Given the description of an element on the screen output the (x, y) to click on. 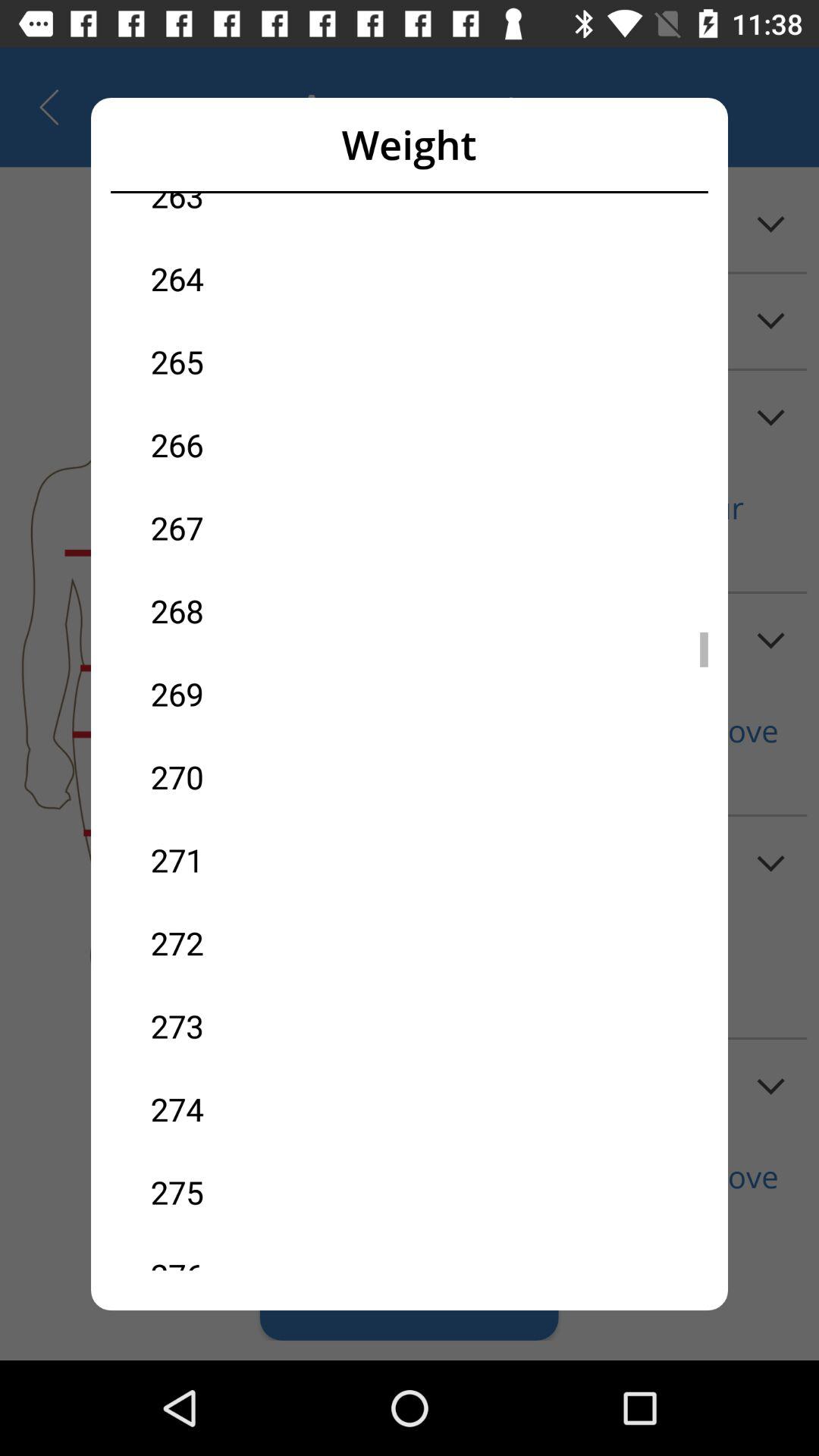
tap icon above the 273 item (279, 942)
